Given the description of an element on the screen output the (x, y) to click on. 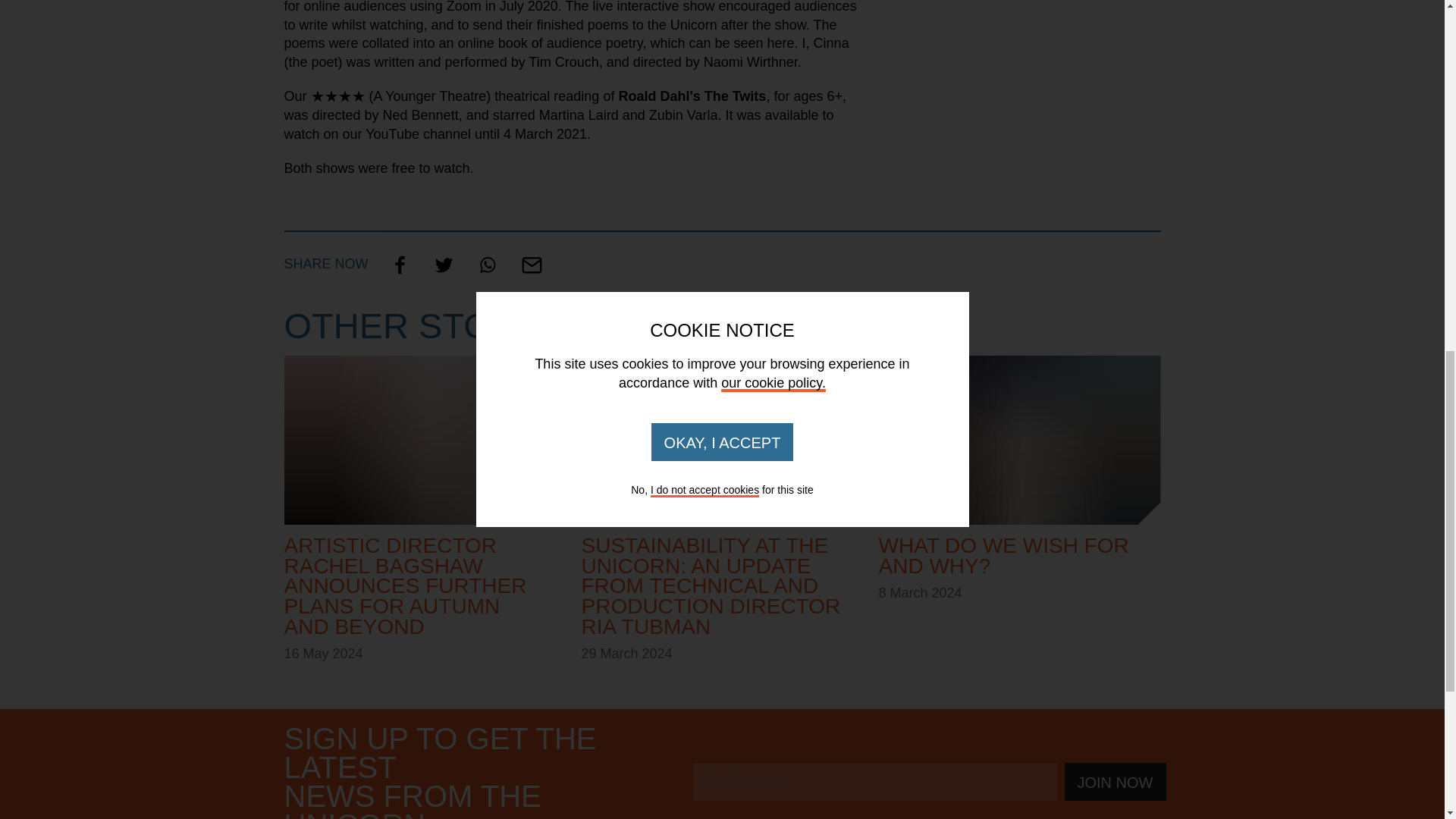
Share on facebook (400, 264)
Share on twitter (444, 264)
Share on Whatsapp (487, 264)
Share via email (531, 264)
JOIN NOW (1018, 509)
